Given the description of an element on the screen output the (x, y) to click on. 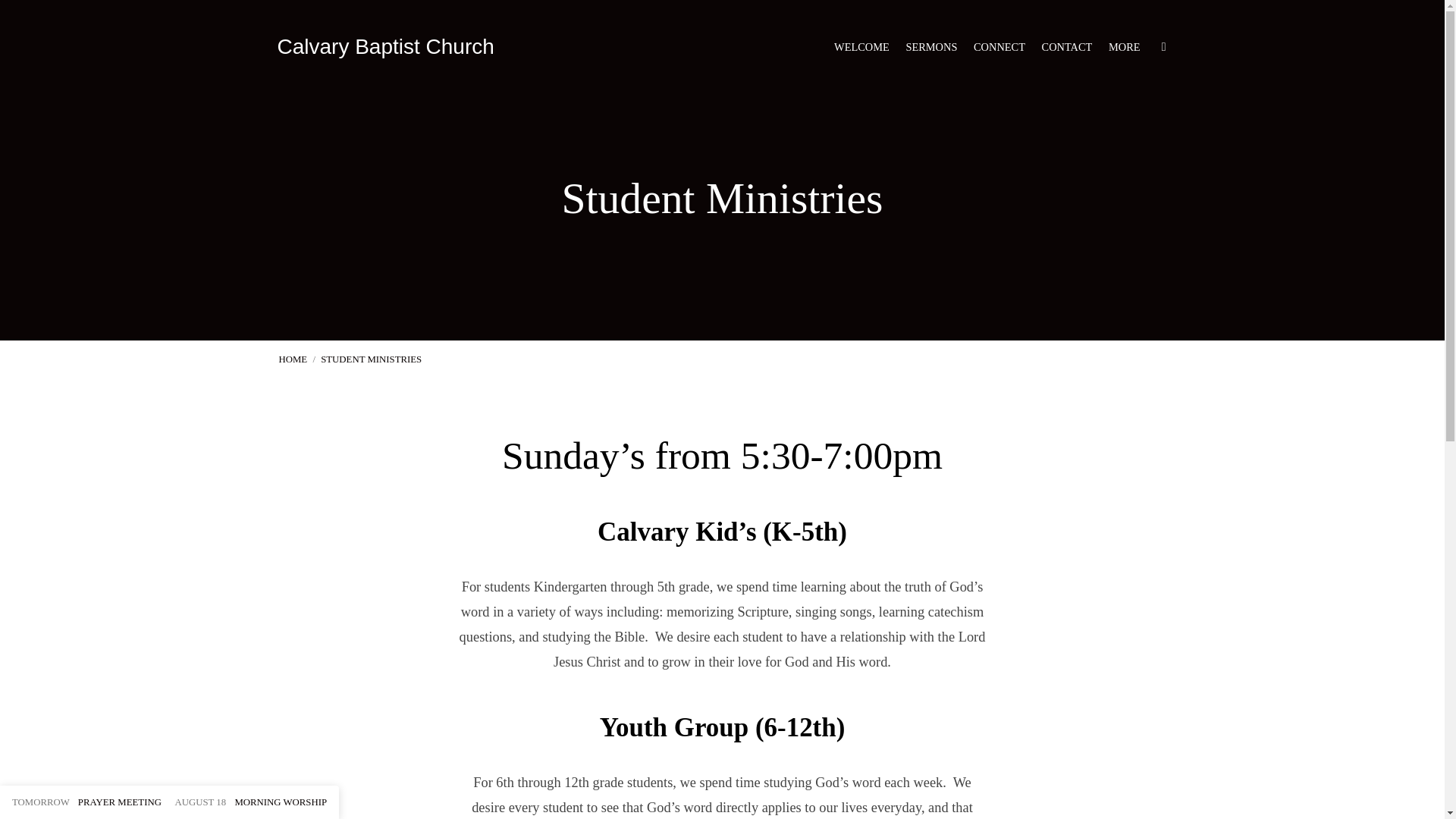
SERMONS (930, 46)
TOMORROW PRAYER MEETING (86, 801)
STUDENT MINISTRIES (371, 358)
WELCOME (861, 46)
CONTACT (1067, 46)
HOME (293, 358)
MORE (1124, 46)
AUGUST 18 MORNING WORSHIP (250, 801)
Prayer Meeting (86, 801)
CONNECT (999, 46)
